Given the description of an element on the screen output the (x, y) to click on. 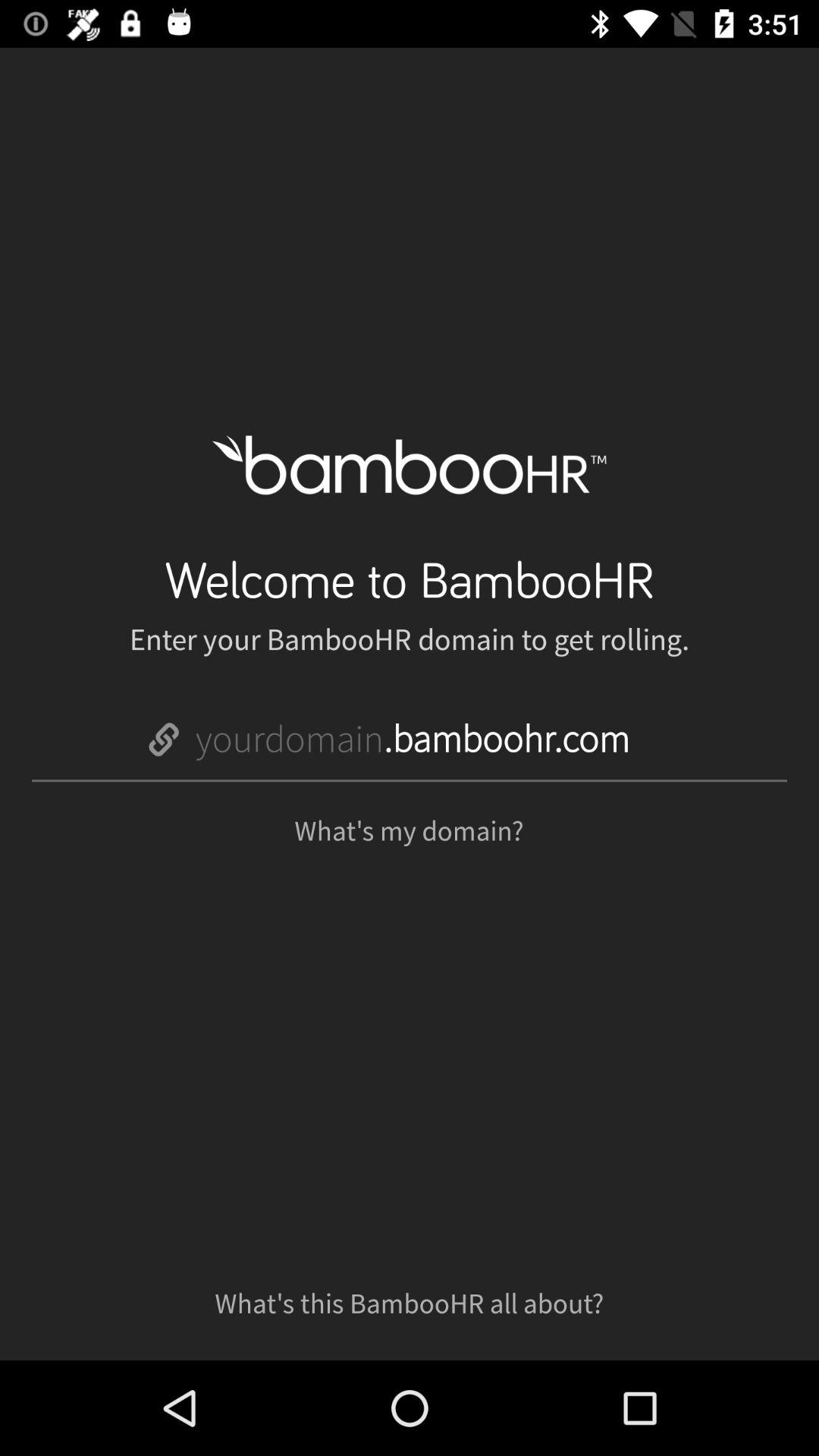
choose icon below enter your bamboohr icon (412, 739)
